Given the description of an element on the screen output the (x, y) to click on. 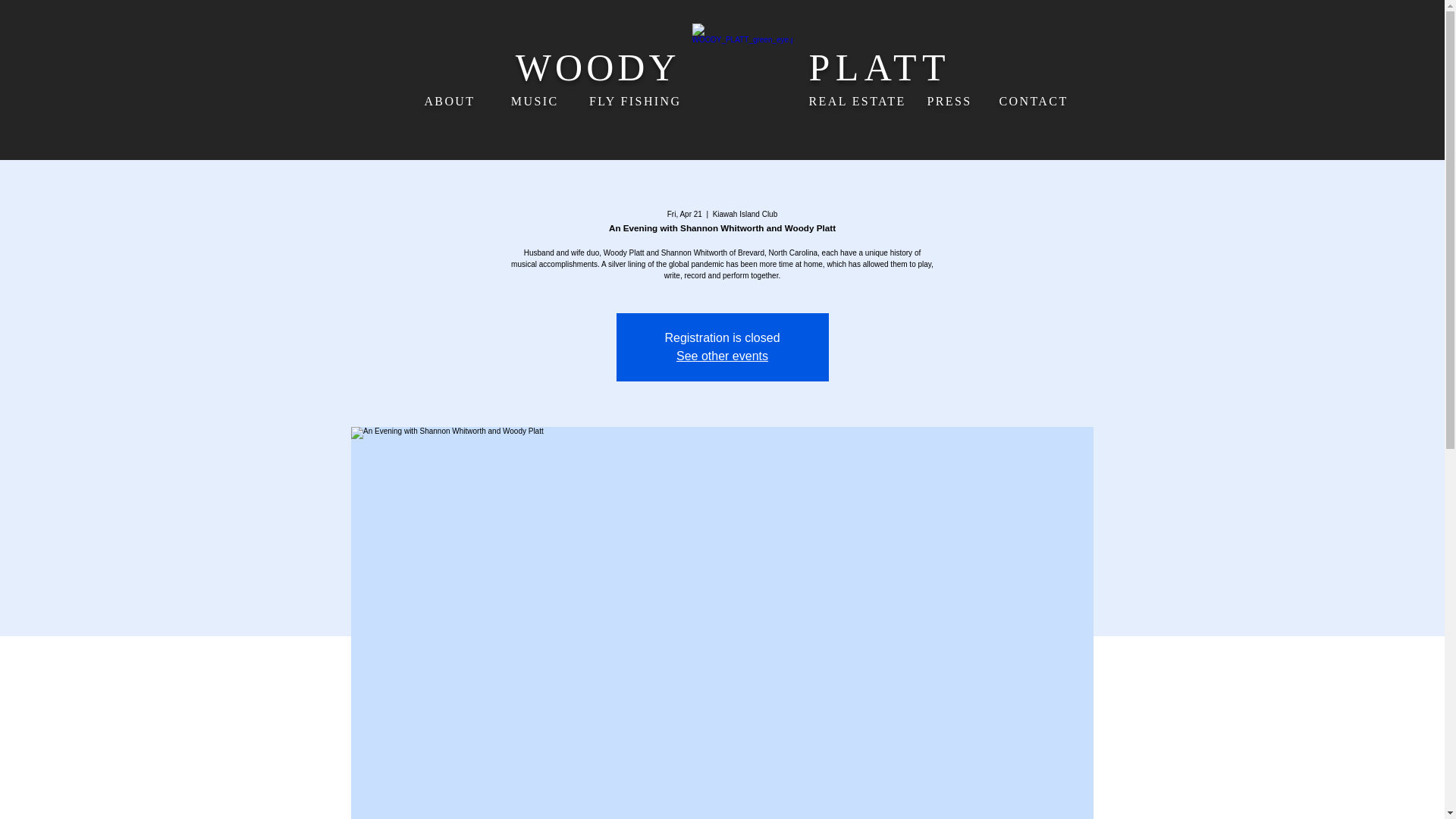
CONTACT (1033, 101)
FLY FISHING (635, 101)
MUSIC (535, 101)
WOODY (597, 66)
REAL ESTATE (856, 101)
PLATT (879, 66)
See other events (722, 355)
PRESS (948, 101)
ABOUT (448, 101)
